Given the description of an element on the screen output the (x, y) to click on. 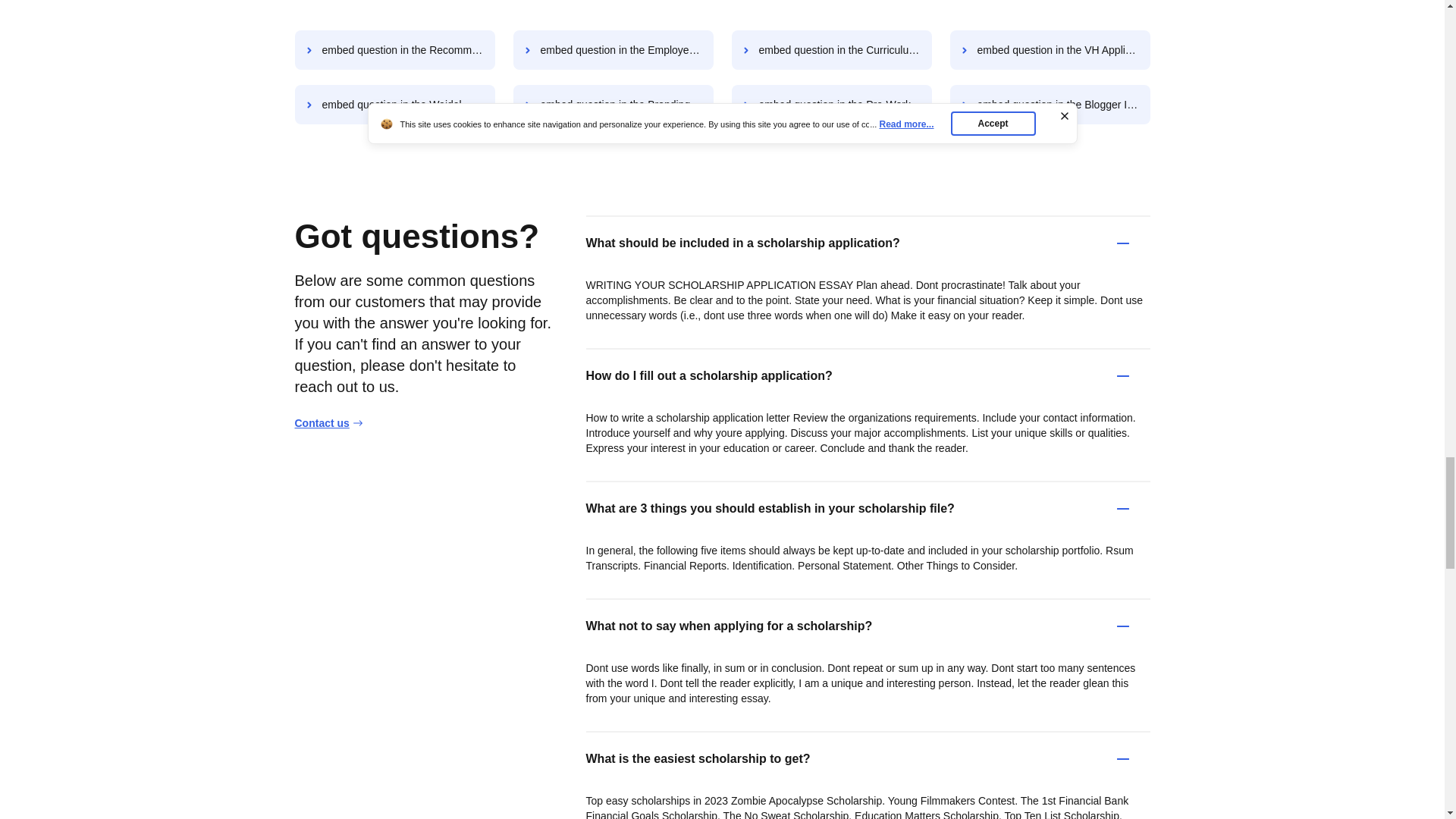
Contact us (328, 422)
embed question in the Blogger Information (1049, 104)
embed question in the Pre-Work (830, 104)
embed question in the Employee Disciplinary Report (612, 49)
embed question in the Recommendation Letter for Promotion (394, 49)
embed question in the VH Application Form (1049, 49)
embed question in the Curriculum Vitae (830, 49)
embed question in the Branding Questionnaire (612, 104)
embed question in the Weidel New Agent (394, 104)
